Given the description of an element on the screen output the (x, y) to click on. 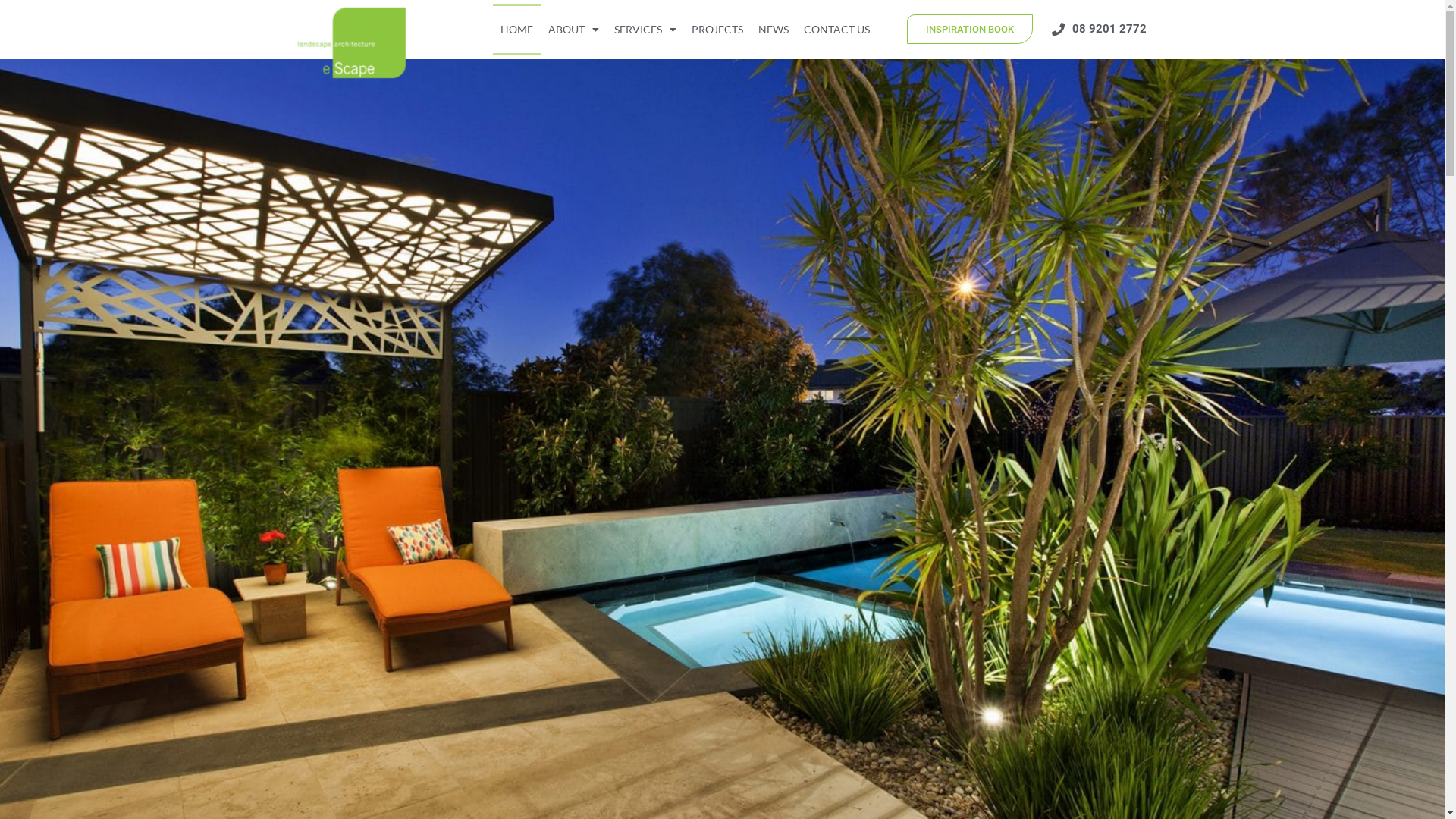
CONTACT US Element type: text (836, 29)
PROJECTS Element type: text (717, 29)
NEWS Element type: text (773, 29)
INSPIRATION BOOK Element type: text (969, 28)
ABOUT Element type: text (573, 29)
HOME Element type: text (516, 29)
08 9201 2772 Element type: text (1097, 29)
SERVICES Element type: text (645, 29)
